Given the description of an element on the screen output the (x, y) to click on. 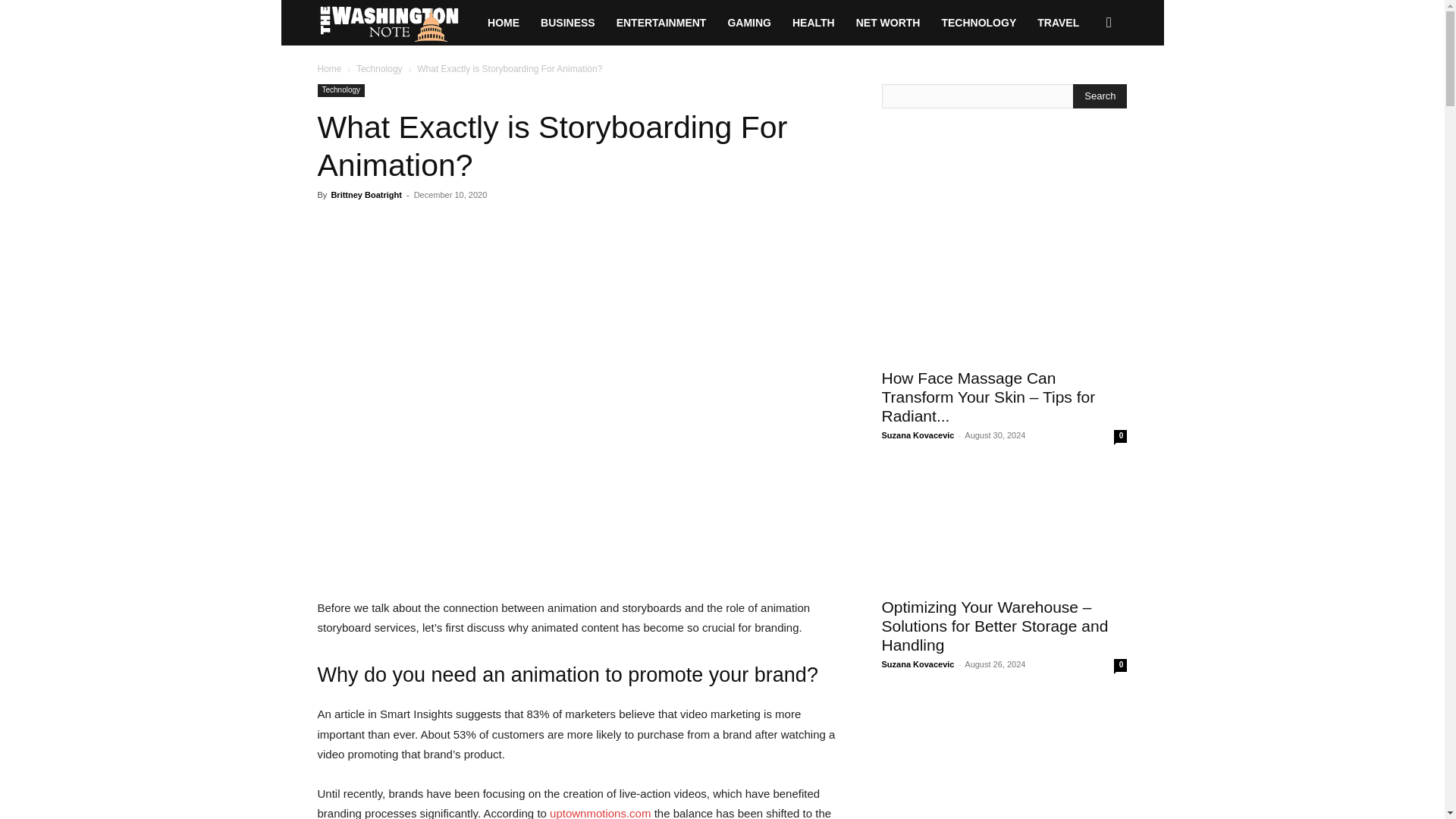
uptownmotions.com (600, 812)
Search (1085, 87)
The Washington Note (397, 22)
Home (328, 68)
Technology (379, 68)
NET WORTH (888, 22)
TRAVEL (1057, 22)
Brittney Boatright (365, 194)
ENTERTAINMENT (661, 22)
TECHNOLOGY (978, 22)
